Given the description of an element on the screen output the (x, y) to click on. 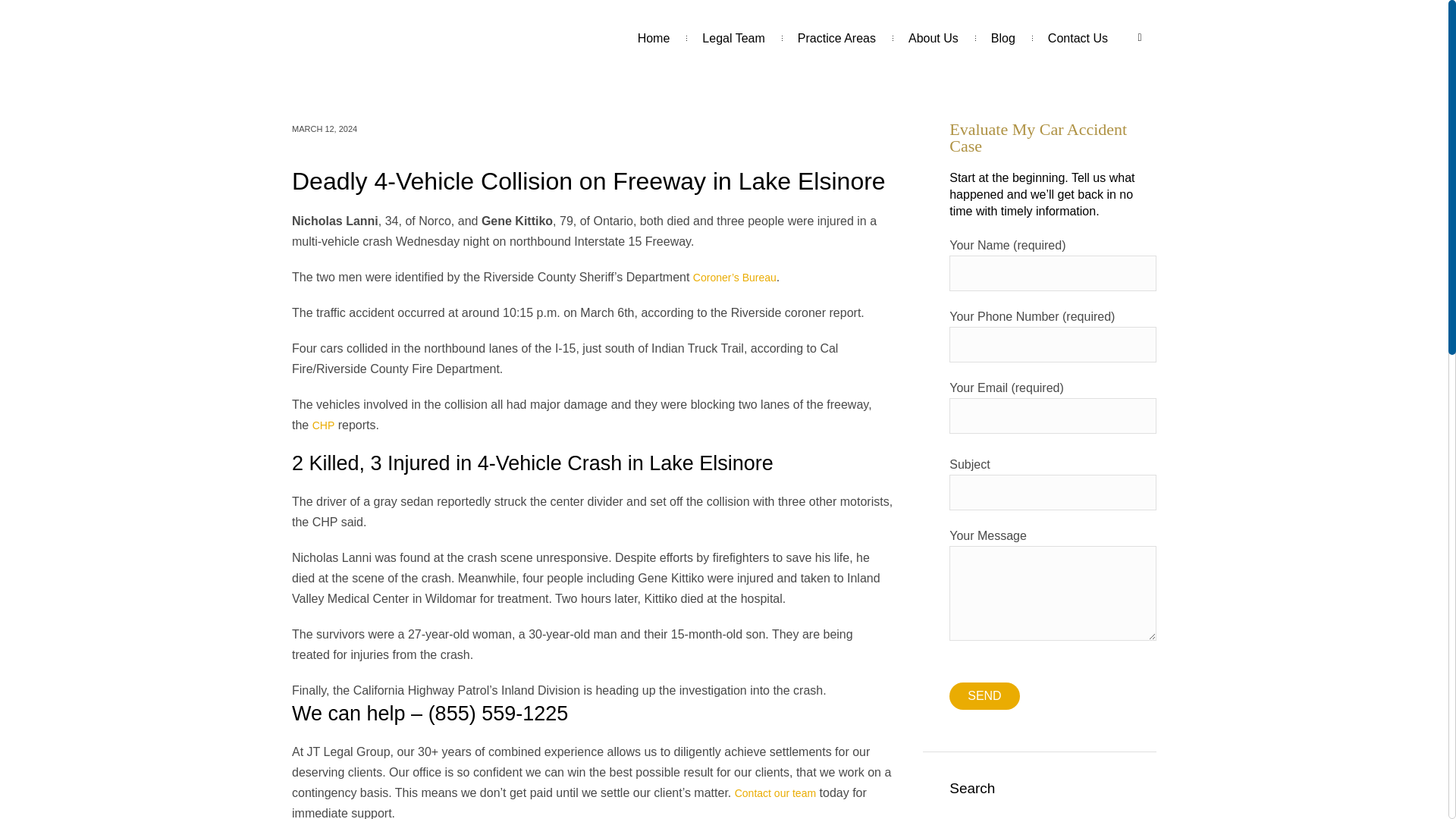
Contact our team (775, 793)
Send (984, 696)
CHP (323, 425)
Contact Us (1078, 37)
March 12, 2024 (324, 128)
About Us (933, 37)
Practice Areas (836, 37)
Home (653, 37)
Blog (1002, 37)
Legal Team (732, 37)
